Given the description of an element on the screen output the (x, y) to click on. 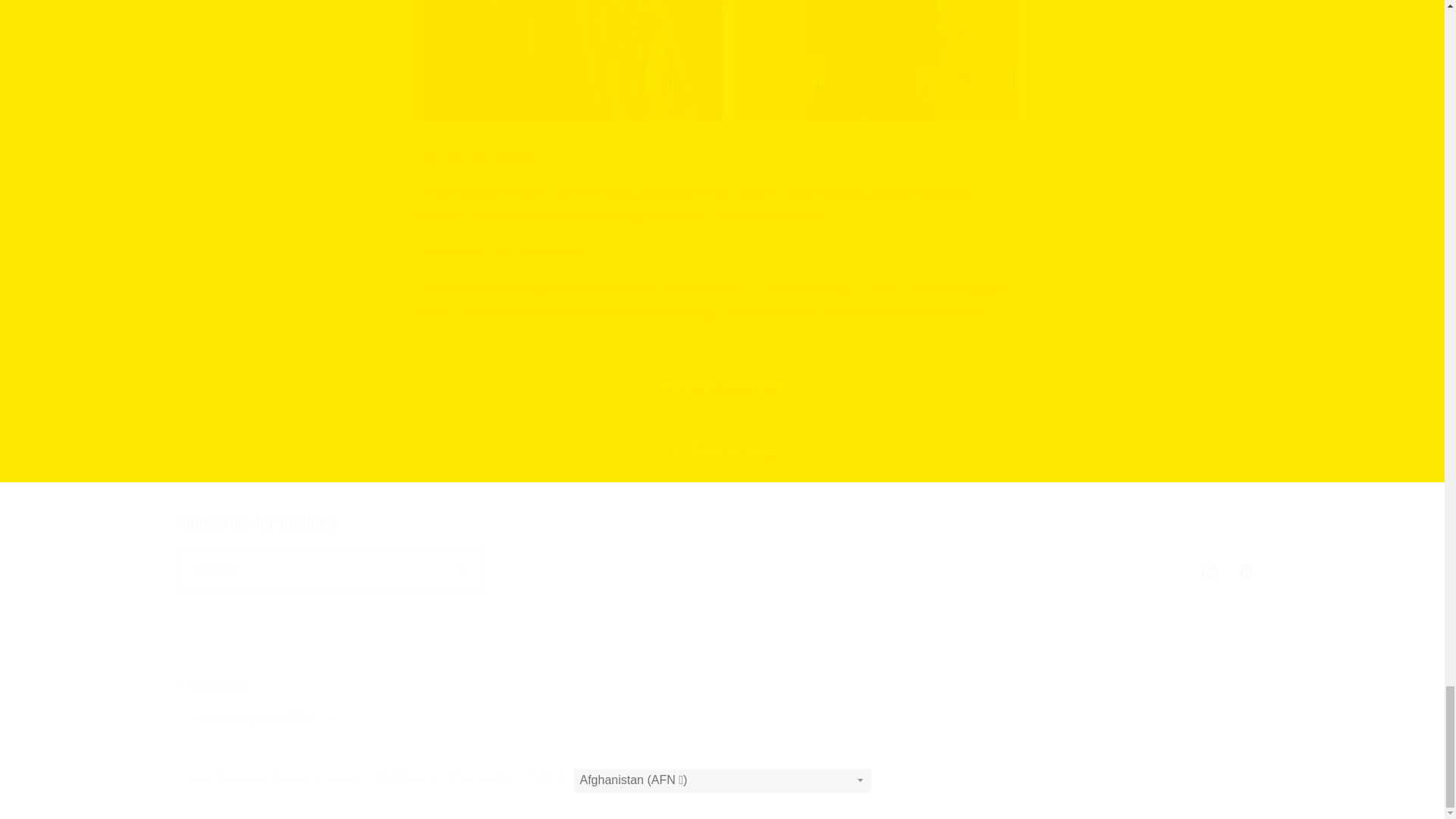
Shop the collection (721, 384)
Shop the collection (722, 551)
